Given the description of an element on the screen output the (x, y) to click on. 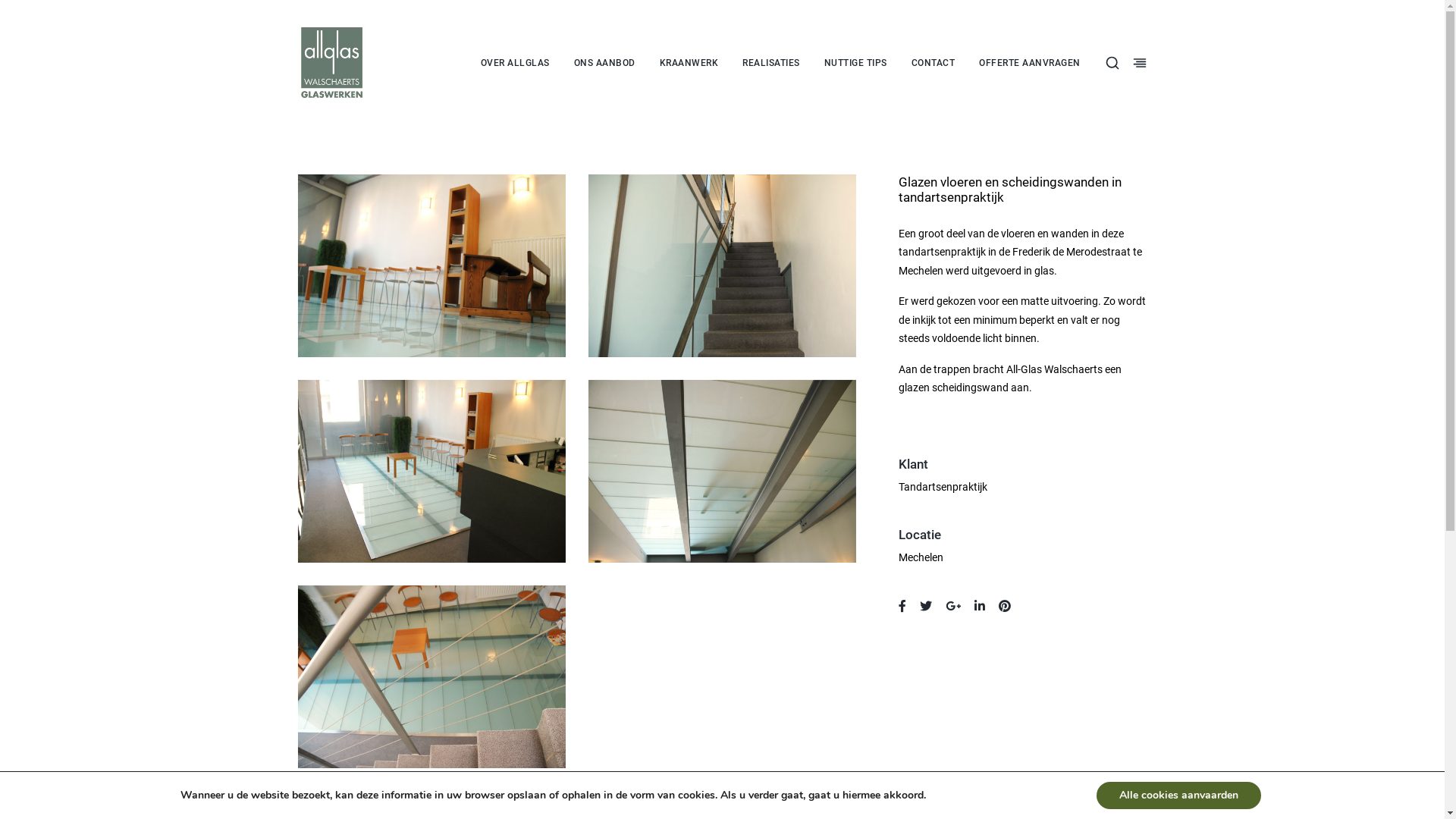
tandarts5 Element type: hover (431, 676)
Alle cookies aanvaarden Element type: text (1178, 795)
ONS AANBOD Element type: text (604, 61)
OVER ALLGLAS Element type: text (514, 61)
KRAANWERK Element type: text (688, 61)
tandarts2 Element type: hover (722, 265)
tandarts1 Element type: hover (431, 265)
REALISATIES Element type: text (771, 61)
tandarts3 Element type: hover (431, 470)
NUTTIGE TIPS Element type: text (855, 61)
tandarts4 Element type: hover (722, 470)
CONTACT Element type: text (933, 61)
Wijzig cookievoorkeuren Element type: text (988, 795)
OFFERTE AANVRAGEN Element type: text (1029, 61)
